Given the description of an element on the screen output the (x, y) to click on. 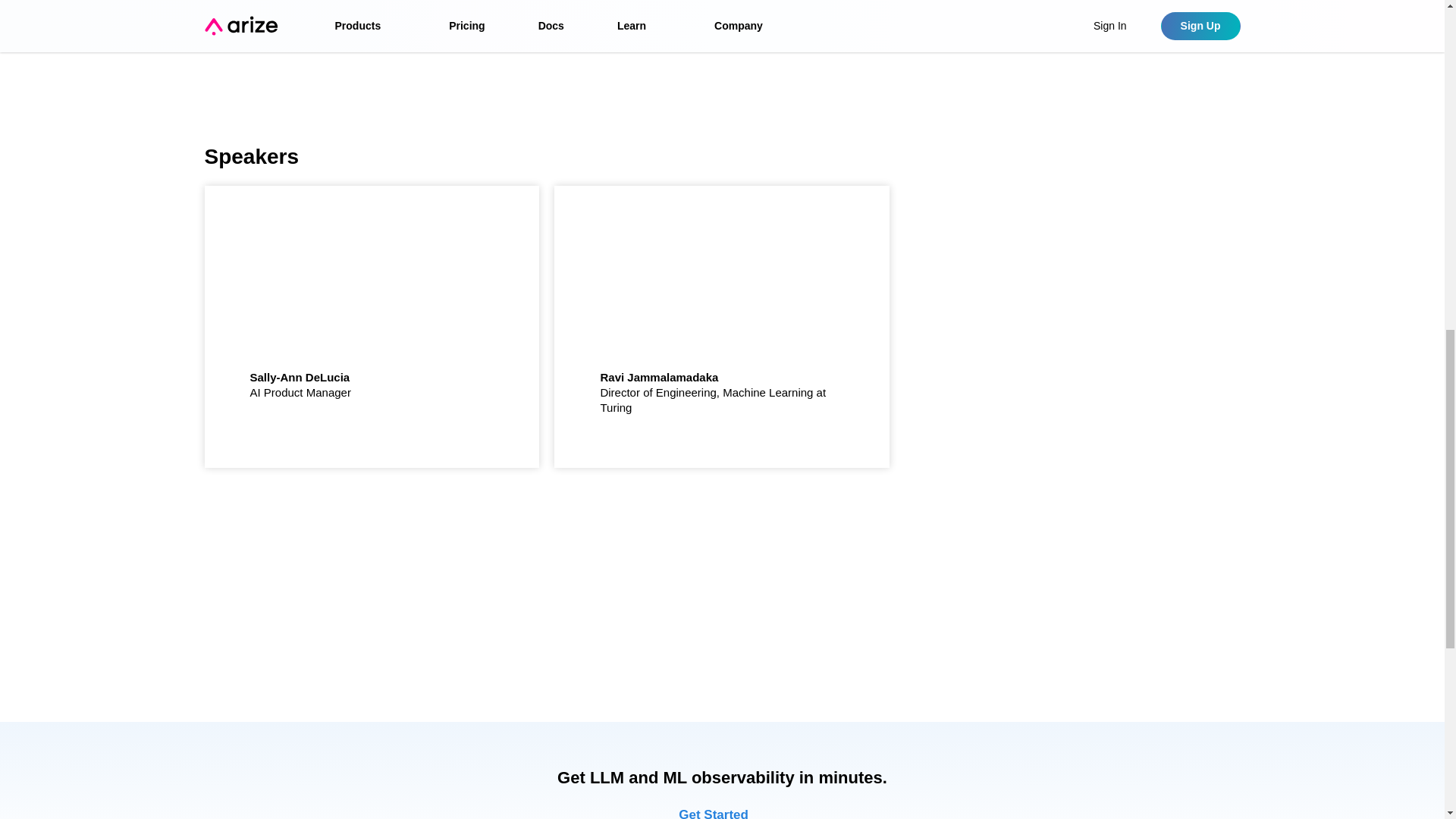
Get Started (721, 813)
